Given the description of an element on the screen output the (x, y) to click on. 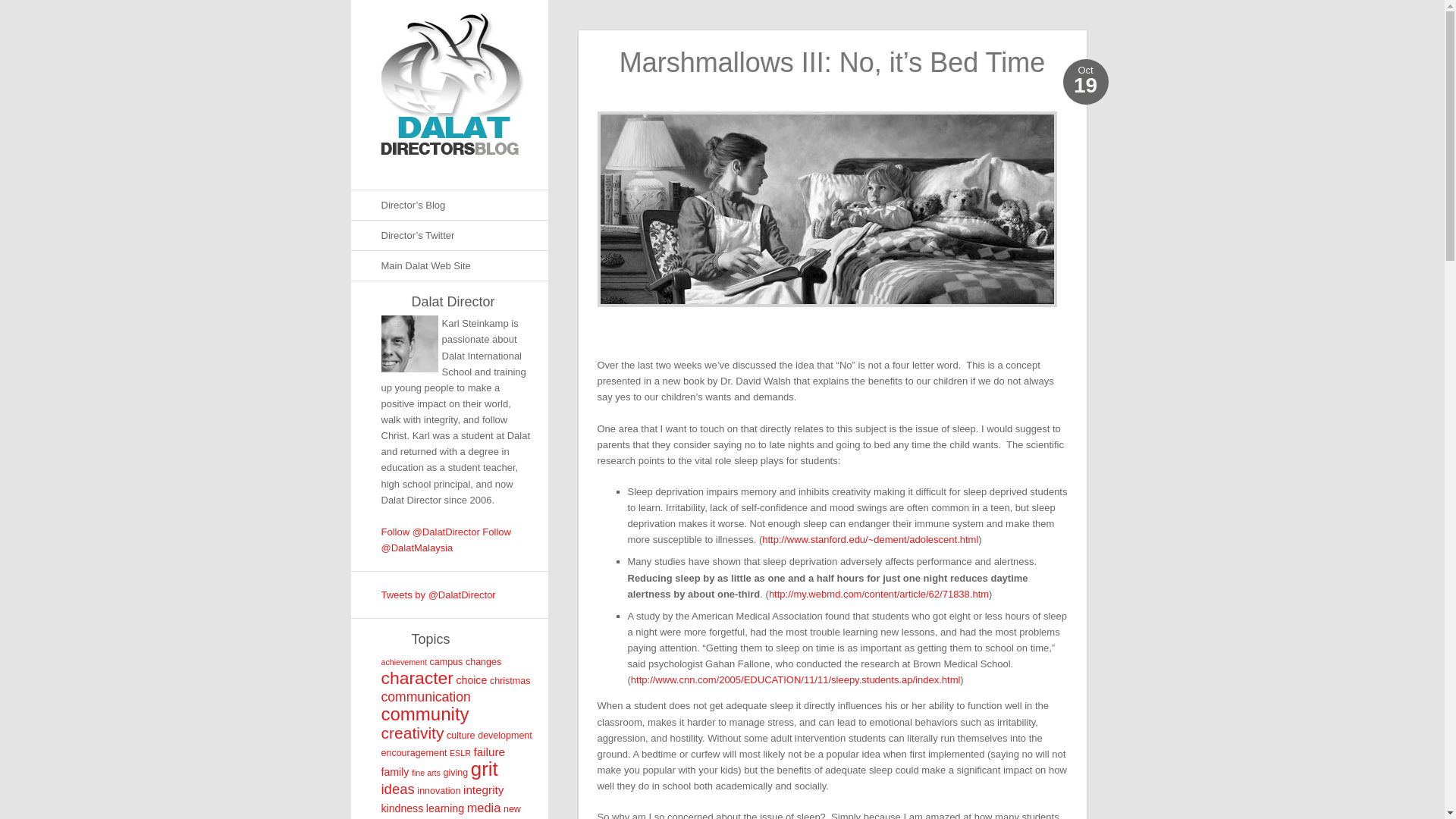
development (504, 735)
achievement (403, 661)
18 topics (424, 713)
6 topics (470, 680)
Skip to secondary content (56, 7)
failure (489, 751)
encouragement (413, 752)
ideas (396, 788)
creativity (412, 732)
family (394, 771)
